Given the description of an element on the screen output the (x, y) to click on. 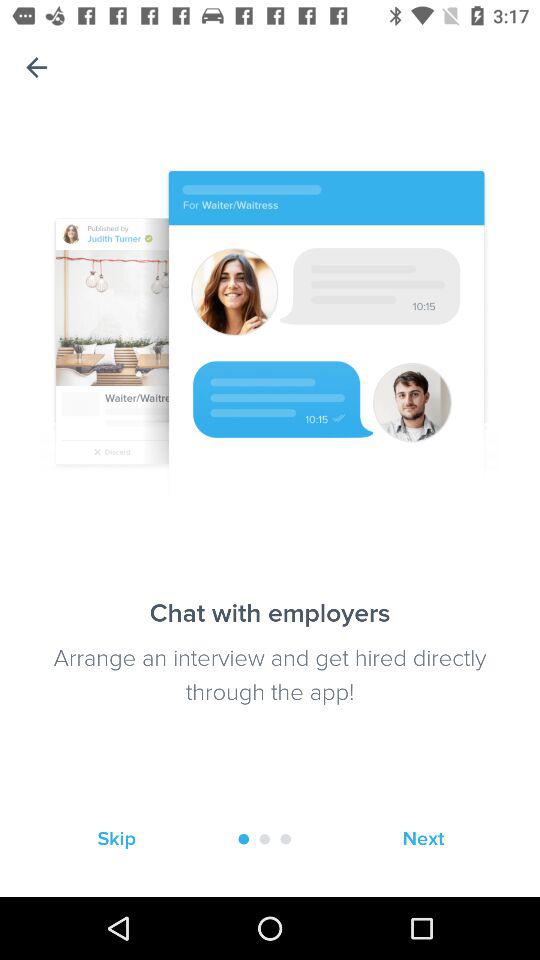
turn off item below the arrange an interview item (116, 838)
